Given the description of an element on the screen output the (x, y) to click on. 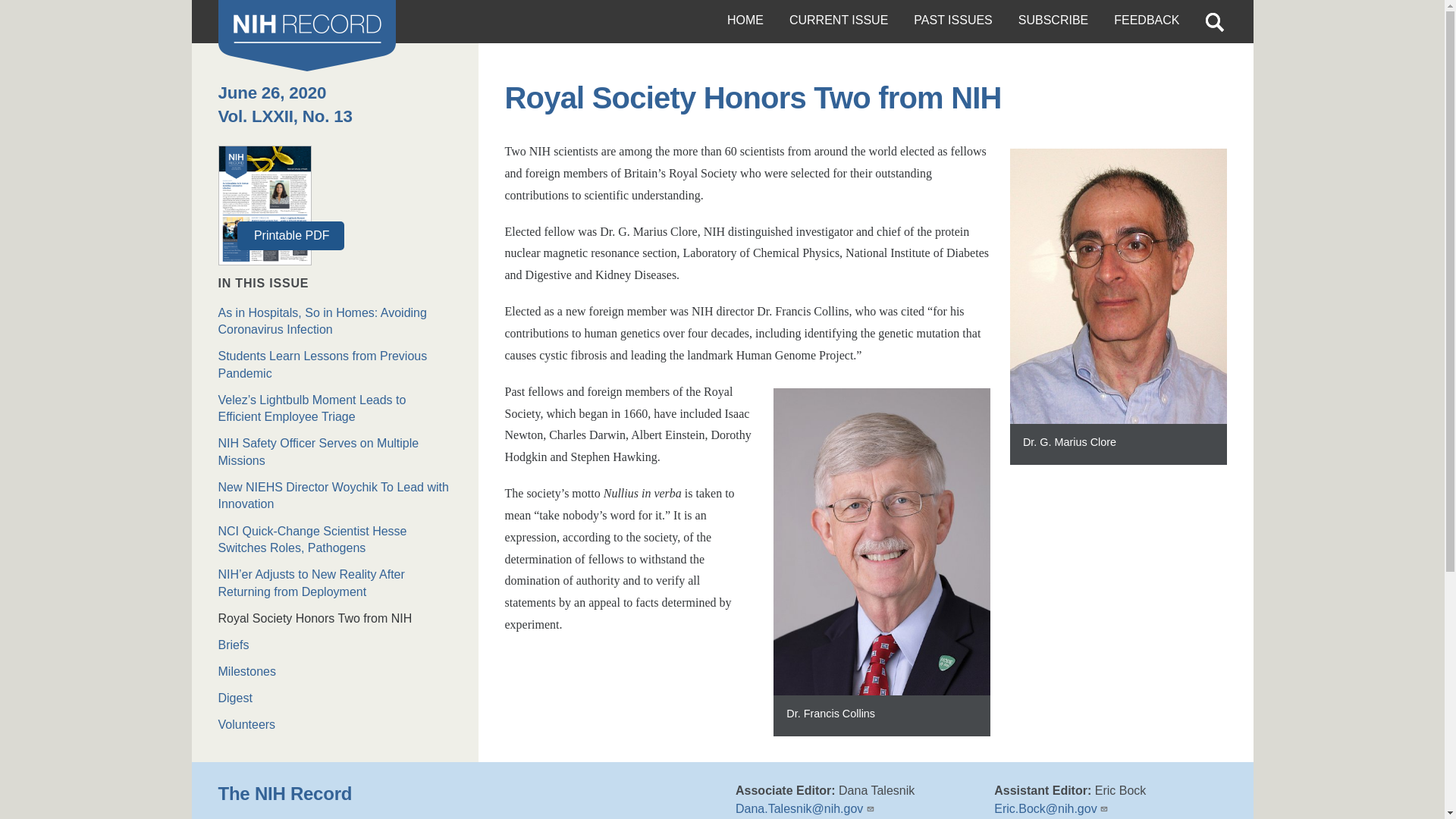
As in Hospitals, So in Homes: Avoiding Coronavirus Infection (334, 321)
Briefs (334, 645)
NCI Quick-Change Scientist Hesse Switches Roles, Pathogens (334, 540)
Royal Society Honors Two from NIH (334, 618)
Milestones (334, 671)
NIH Safety Officer Serves on Multiple Missions (334, 451)
June 26, 2020 (272, 92)
Volunteers (334, 724)
CURRENT ISSUE (838, 21)
Vol. LXXII, No. 13 (285, 116)
